Given the description of an element on the screen output the (x, y) to click on. 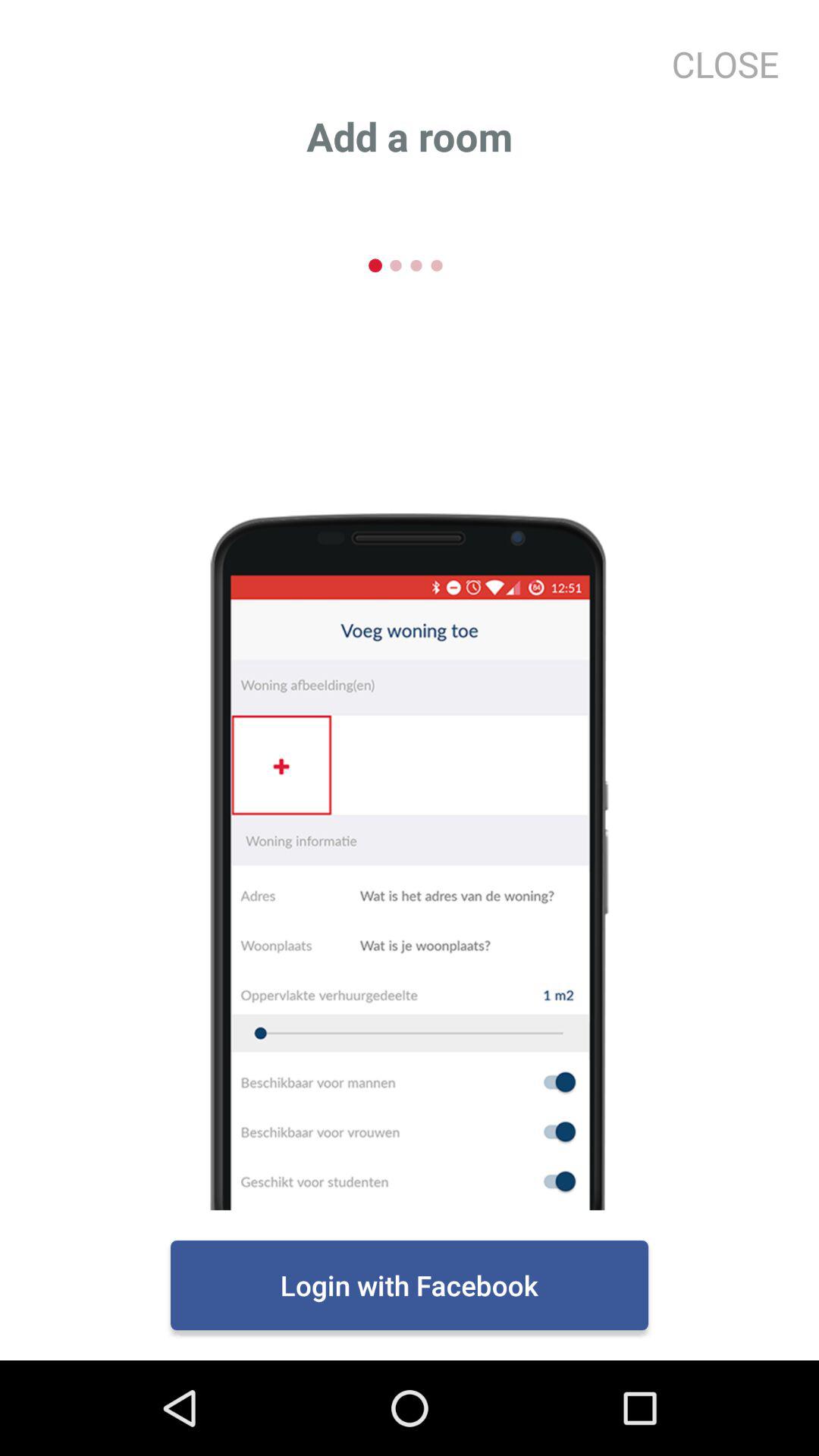
scroll until close (719, 63)
